Given the description of an element on the screen output the (x, y) to click on. 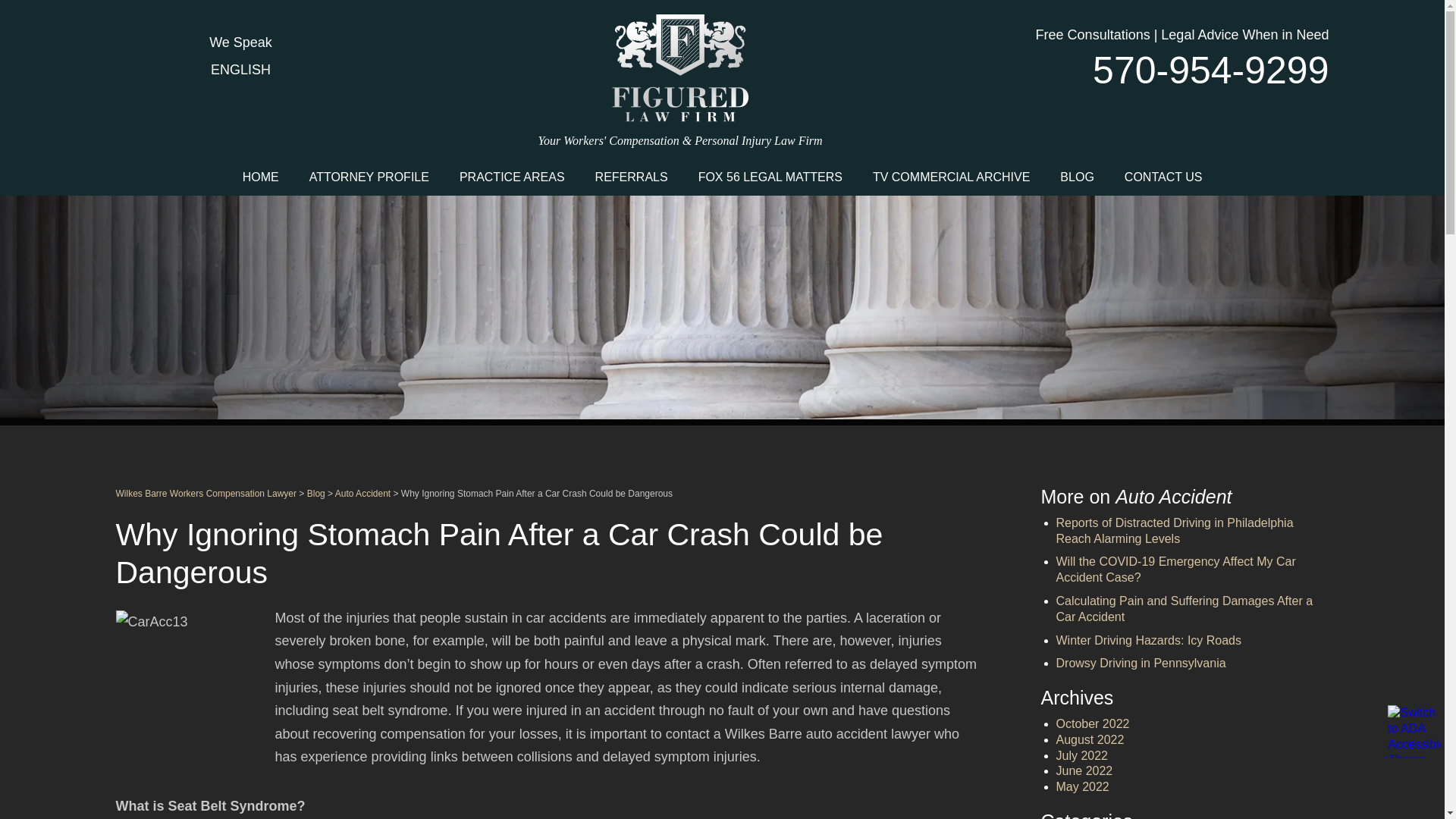
TV COMMERCIAL ARCHIVE (951, 176)
FOX 56 LEGAL MATTERS (769, 176)
570-954-9299 (1189, 70)
HOME (260, 176)
ATTORNEY PROFILE (369, 176)
REFERRALS (630, 176)
CarAcc13 (190, 686)
Switch to ADA Accessible Theme (1414, 731)
PRACTICE AREAS (511, 176)
